Given the description of an element on the screen output the (x, y) to click on. 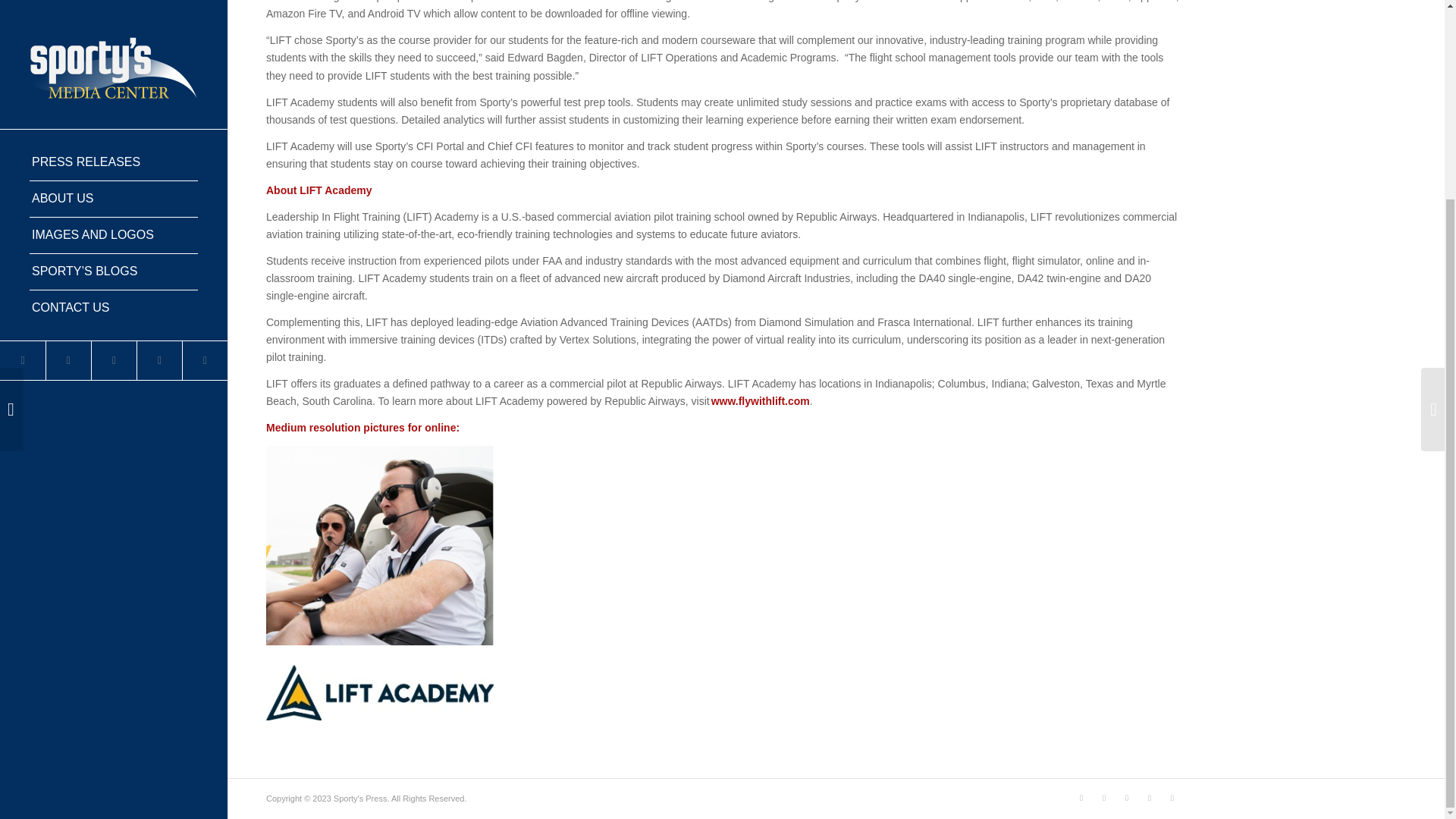
Facebook (67, 106)
Instagram (1171, 797)
Instagram (204, 106)
Pinterest (1149, 797)
Twitter (22, 106)
Youtube (113, 106)
Pinterest (159, 106)
Twitter (1081, 797)
CONTACT US (113, 54)
Youtube (1126, 797)
www.flywithlift.com (760, 400)
Facebook (1104, 797)
